Given the description of an element on the screen output the (x, y) to click on. 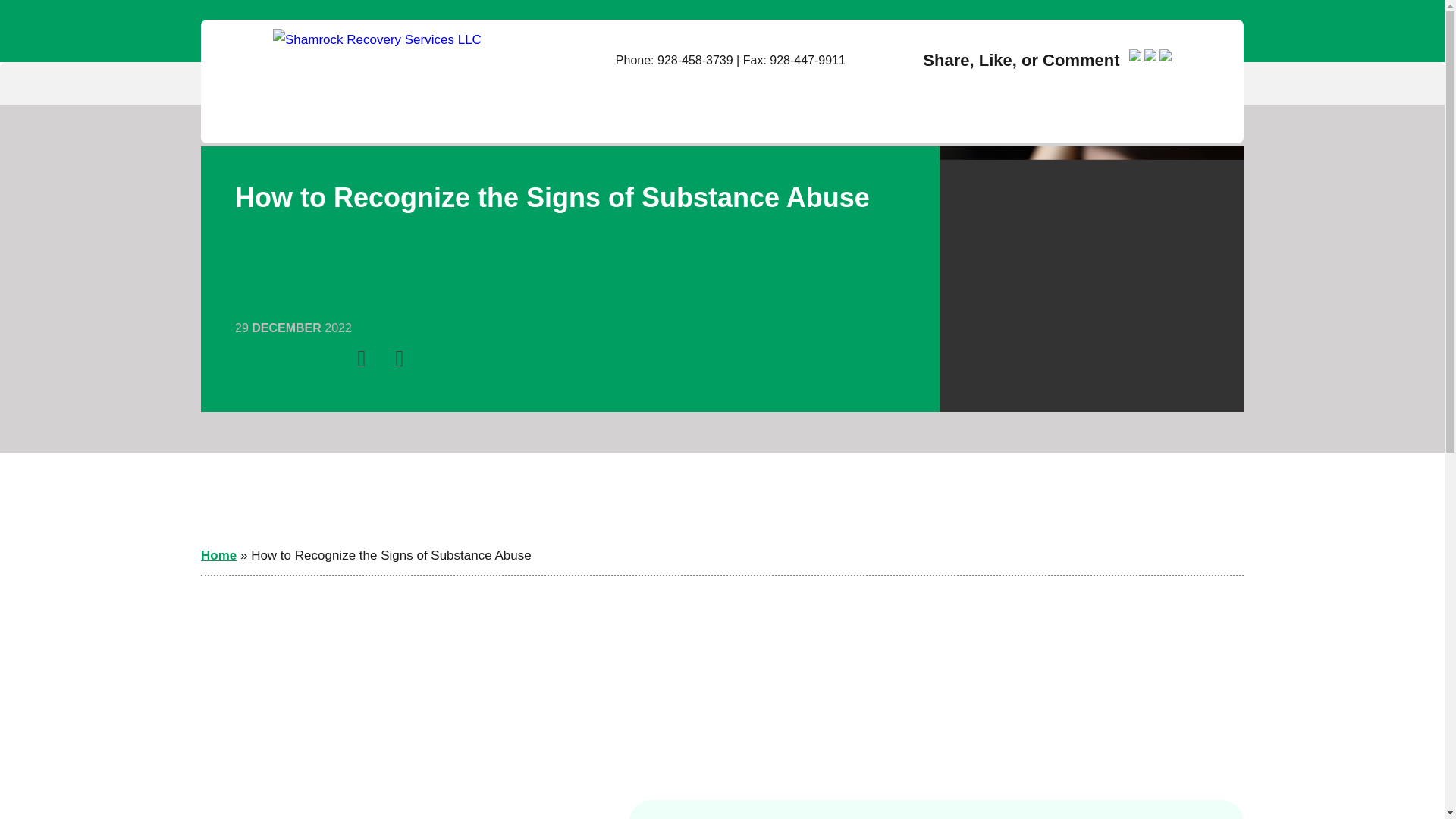
Contact Us (1162, 83)
Resources (1009, 83)
Our Team (522, 83)
Home (217, 554)
Services Provided (632, 83)
Privacy Policy (755, 83)
Our Approach (423, 83)
